Given the description of an element on the screen output the (x, y) to click on. 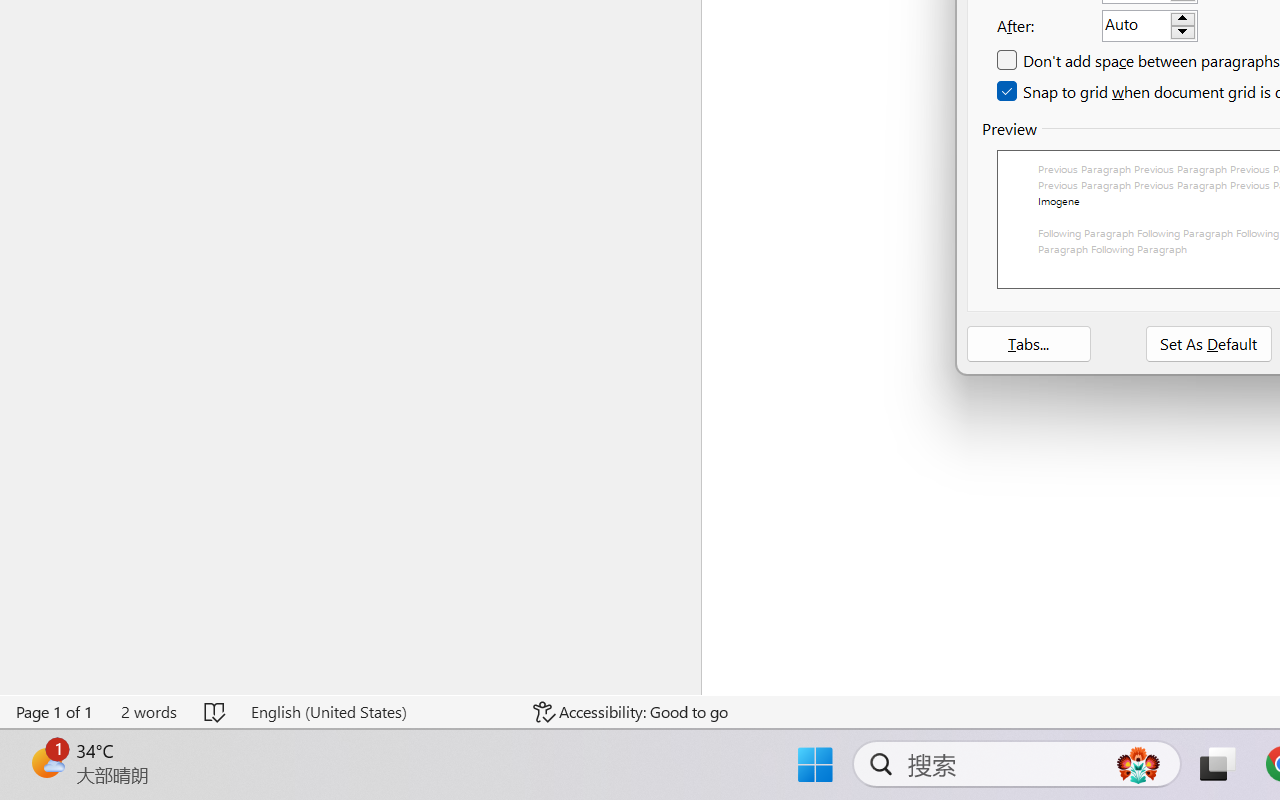
Page Number Page 1 of 1 (55, 712)
Set As Default (1209, 343)
RichEdit Control (1136, 25)
After: (1150, 25)
Tabs... (1028, 343)
